Given the description of an element on the screen output the (x, y) to click on. 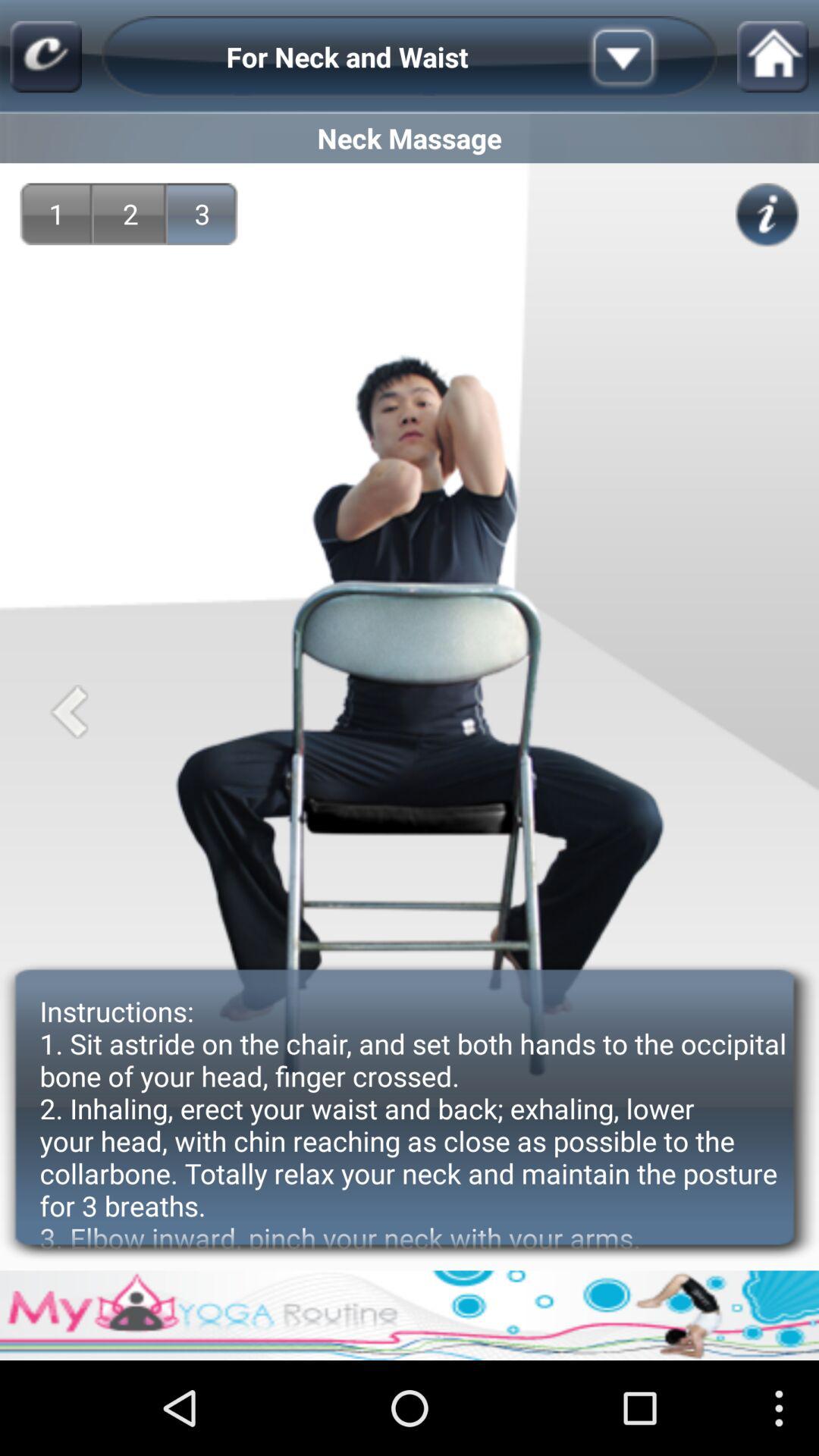
press for information (767, 214)
